Given the description of an element on the screen output the (x, y) to click on. 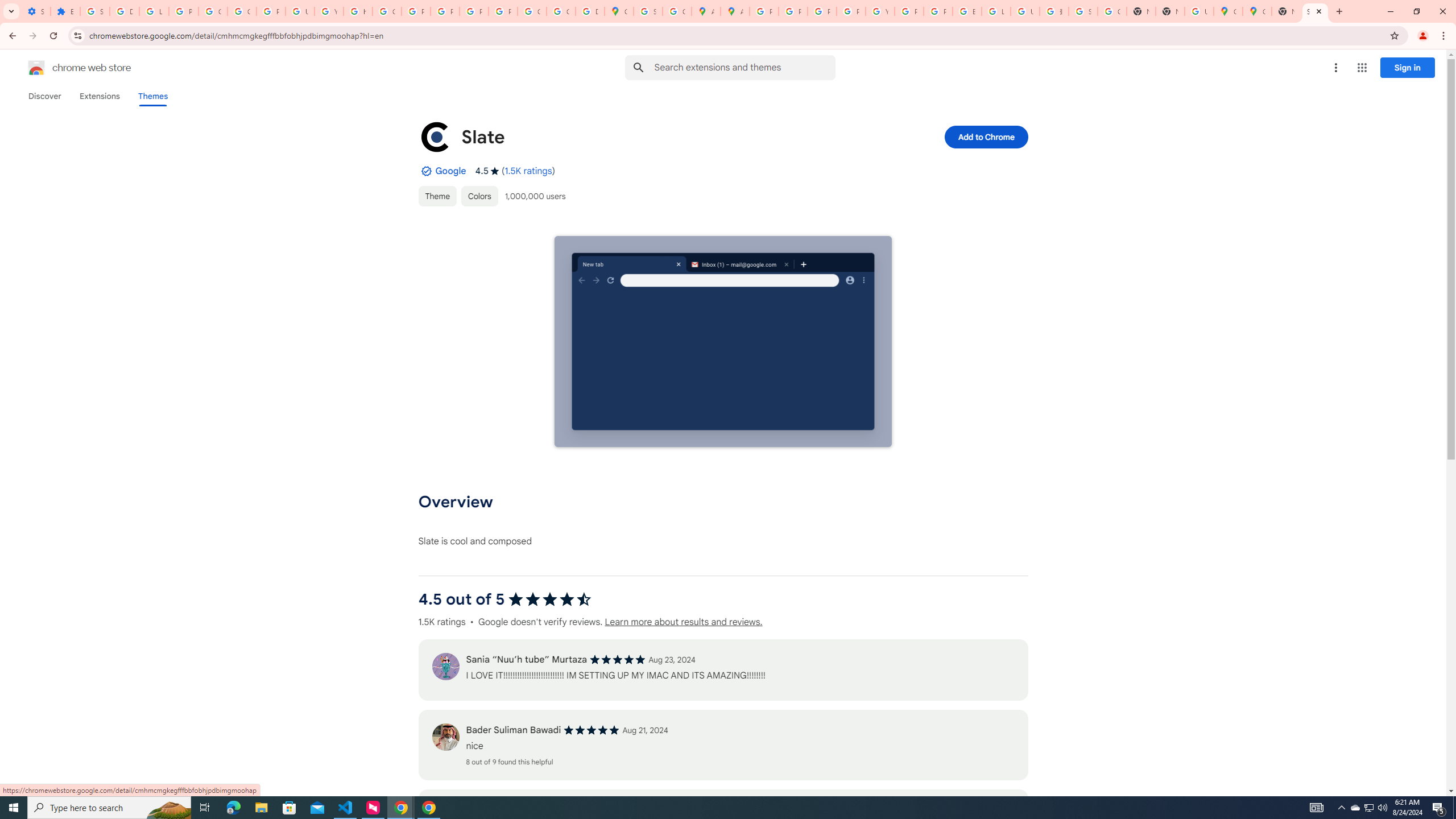
Sign in - Google Accounts (648, 11)
Chrome Web Store logo (36, 67)
By Established Publisher Badge (425, 170)
New Tab (1169, 11)
Add to Chrome (985, 136)
